Given the description of an element on the screen output the (x, y) to click on. 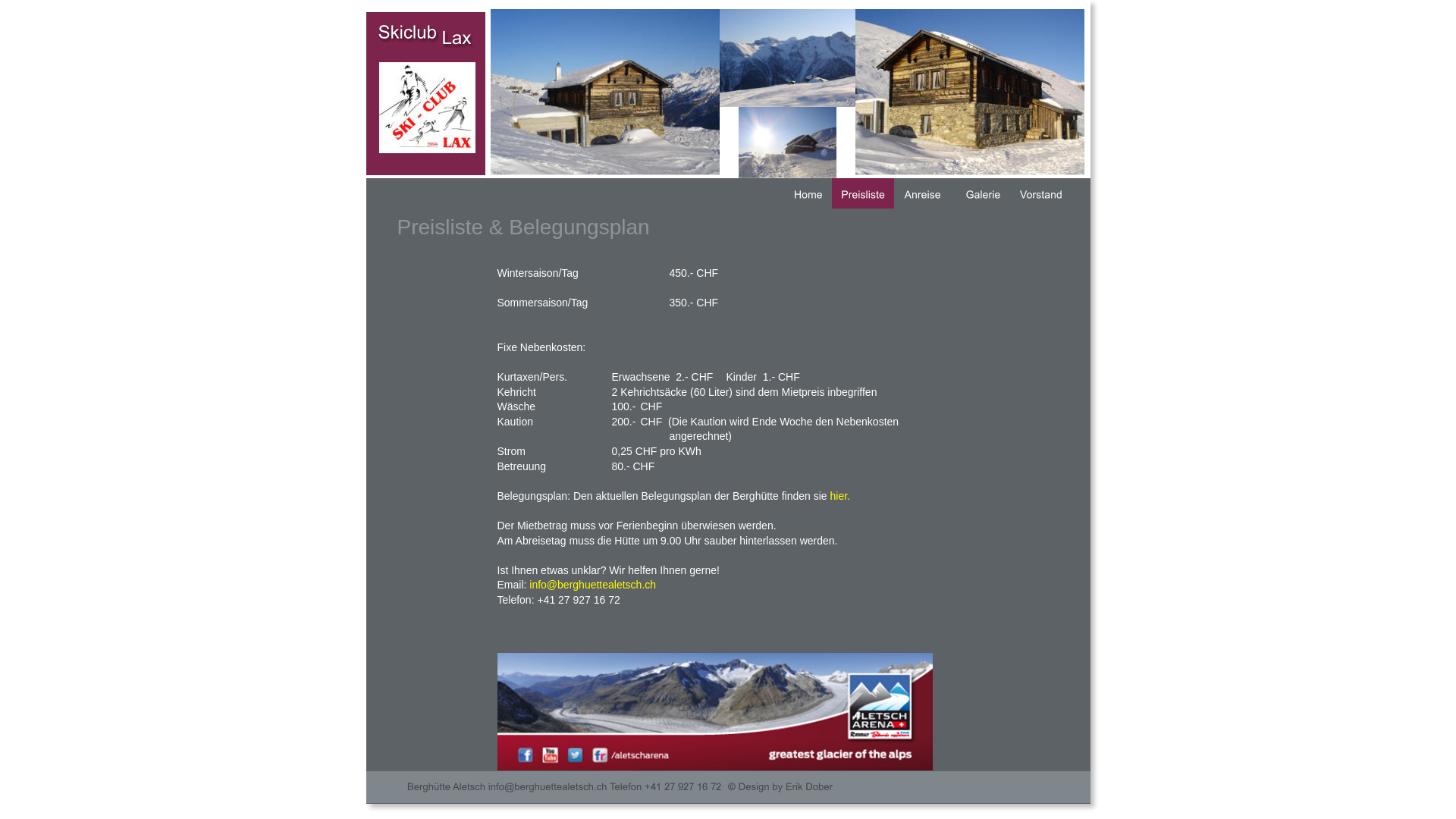
hier. Element type: text (839, 495)
info@berghuettealetsch.ch Element type: text (592, 584)
